Given the description of an element on the screen output the (x, y) to click on. 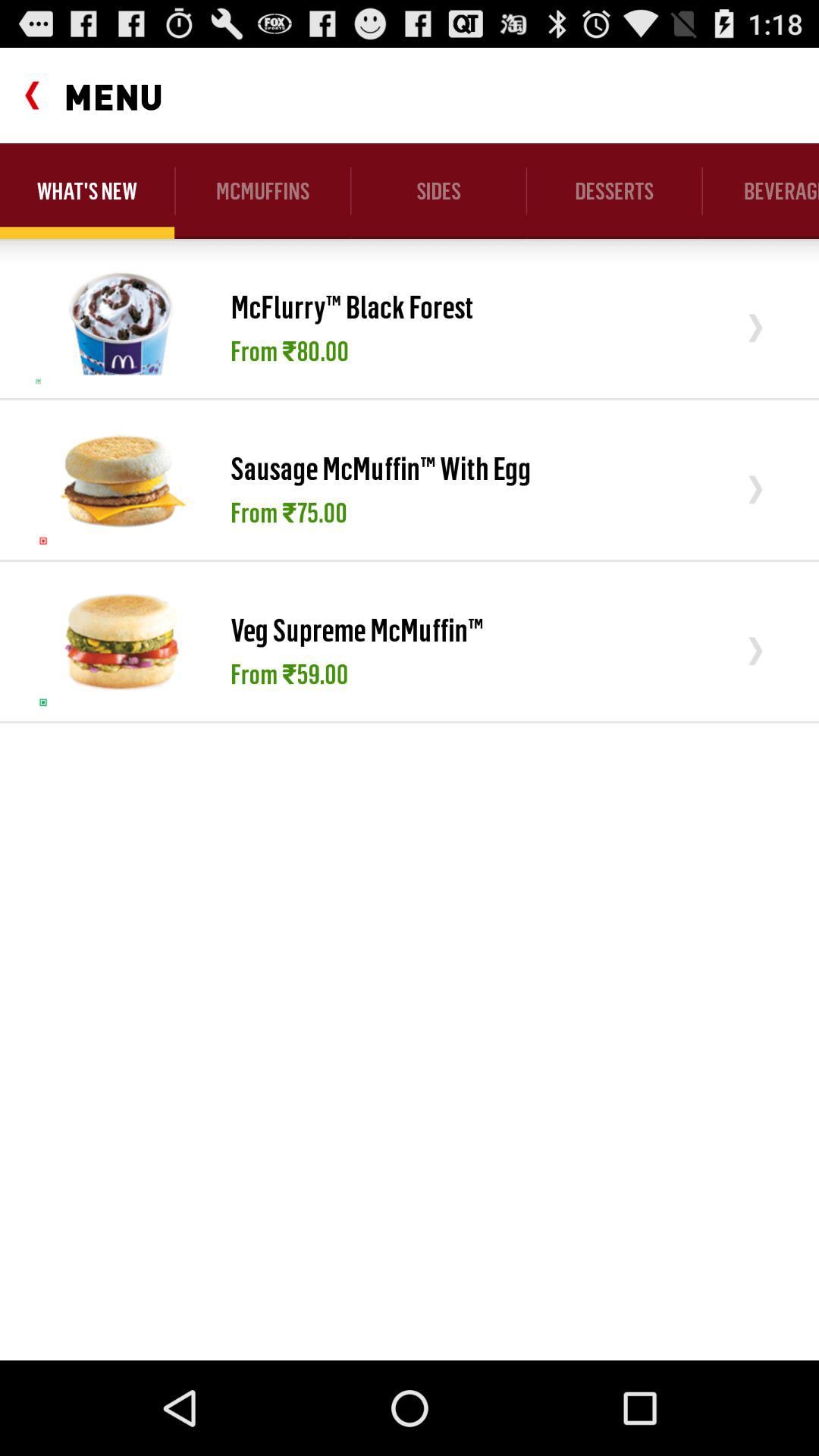
select item next to sausage mcmuffin with (121, 479)
